Given the description of an element on the screen output the (x, y) to click on. 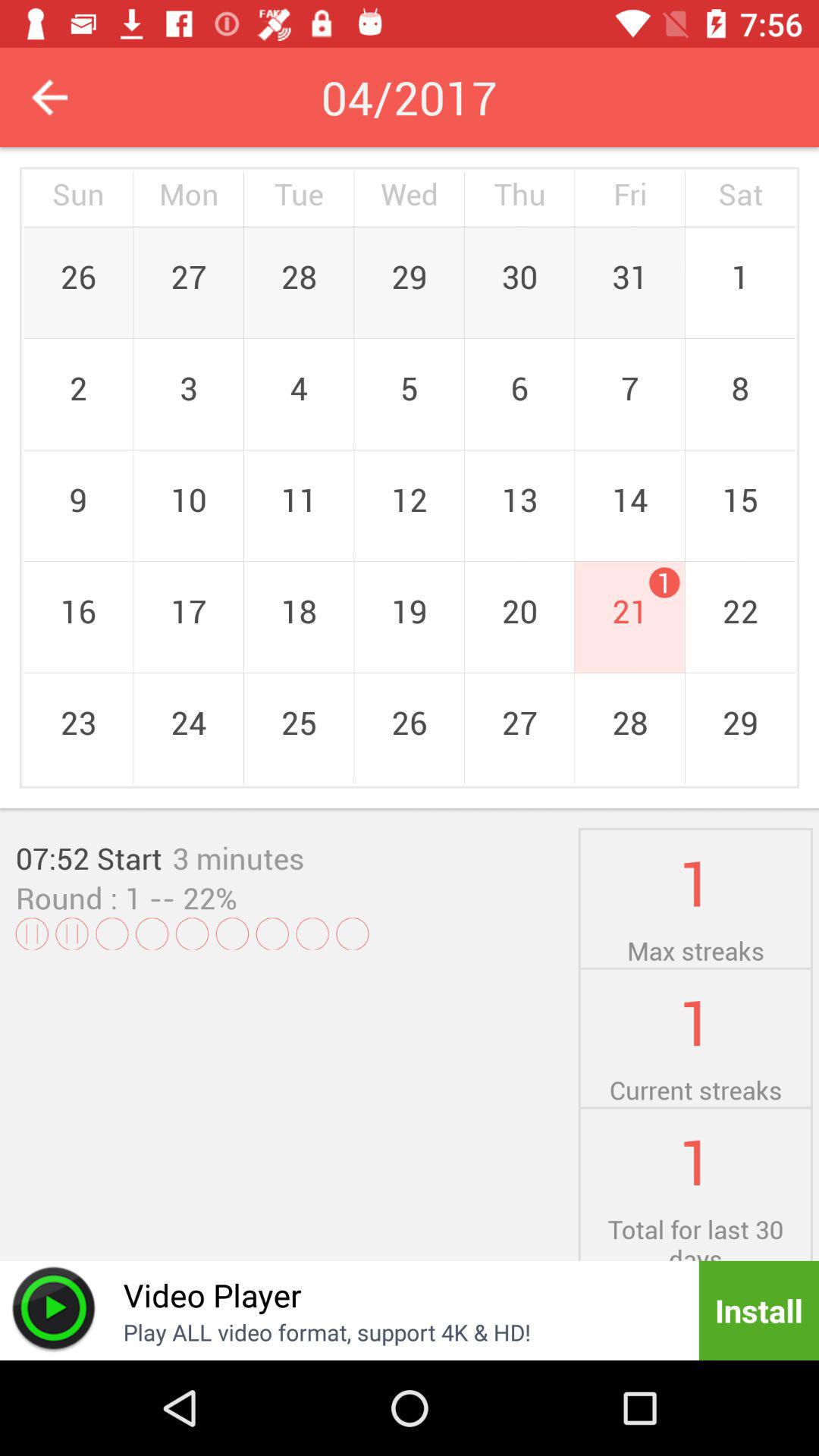
flip until the 3 minutes (238, 858)
